Given the description of an element on the screen output the (x, y) to click on. 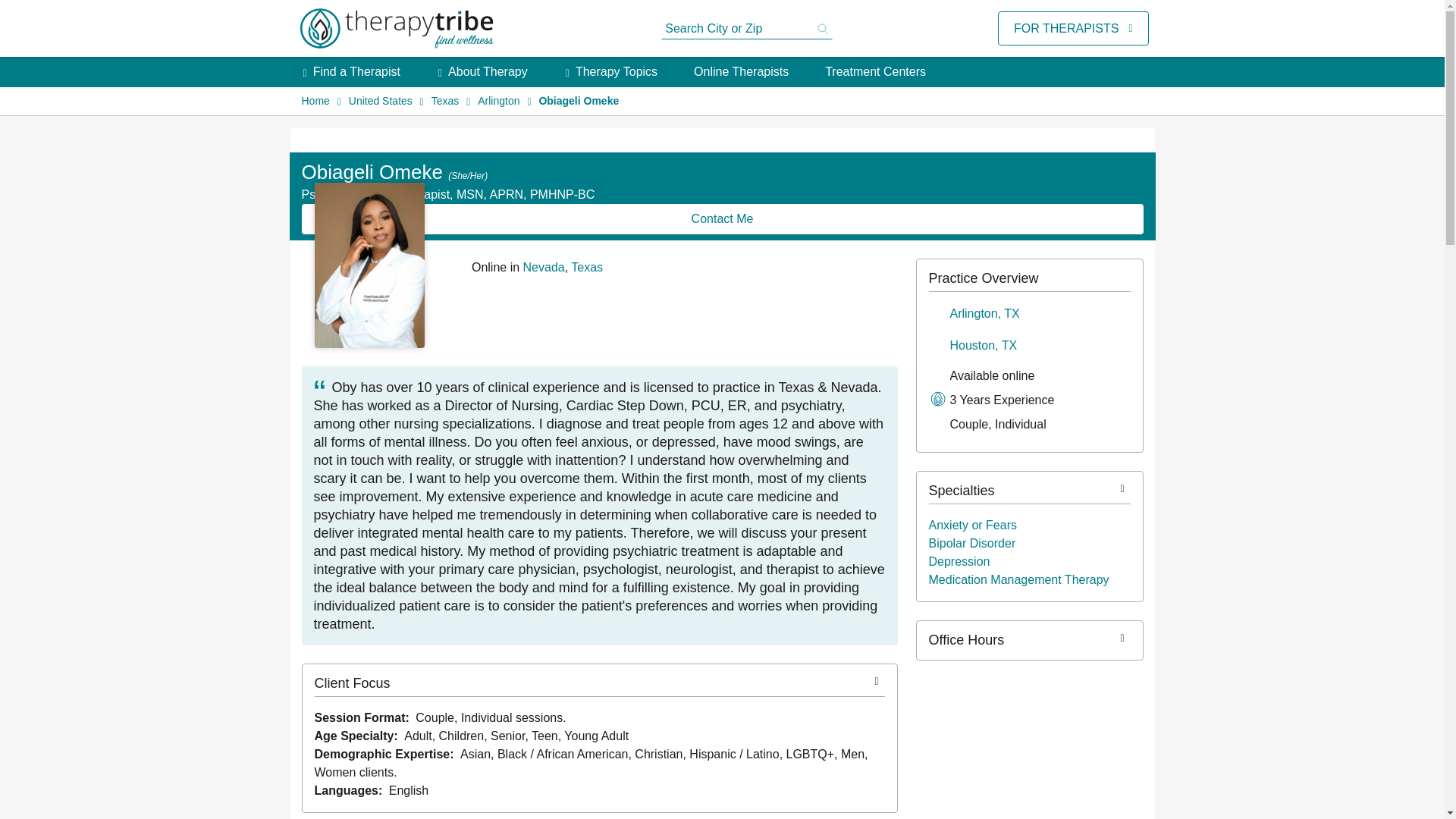
FOR THERAPISTS (1065, 28)
TherapyTribe (395, 28)
Find a Therapist (356, 71)
